Given the description of an element on the screen output the (x, y) to click on. 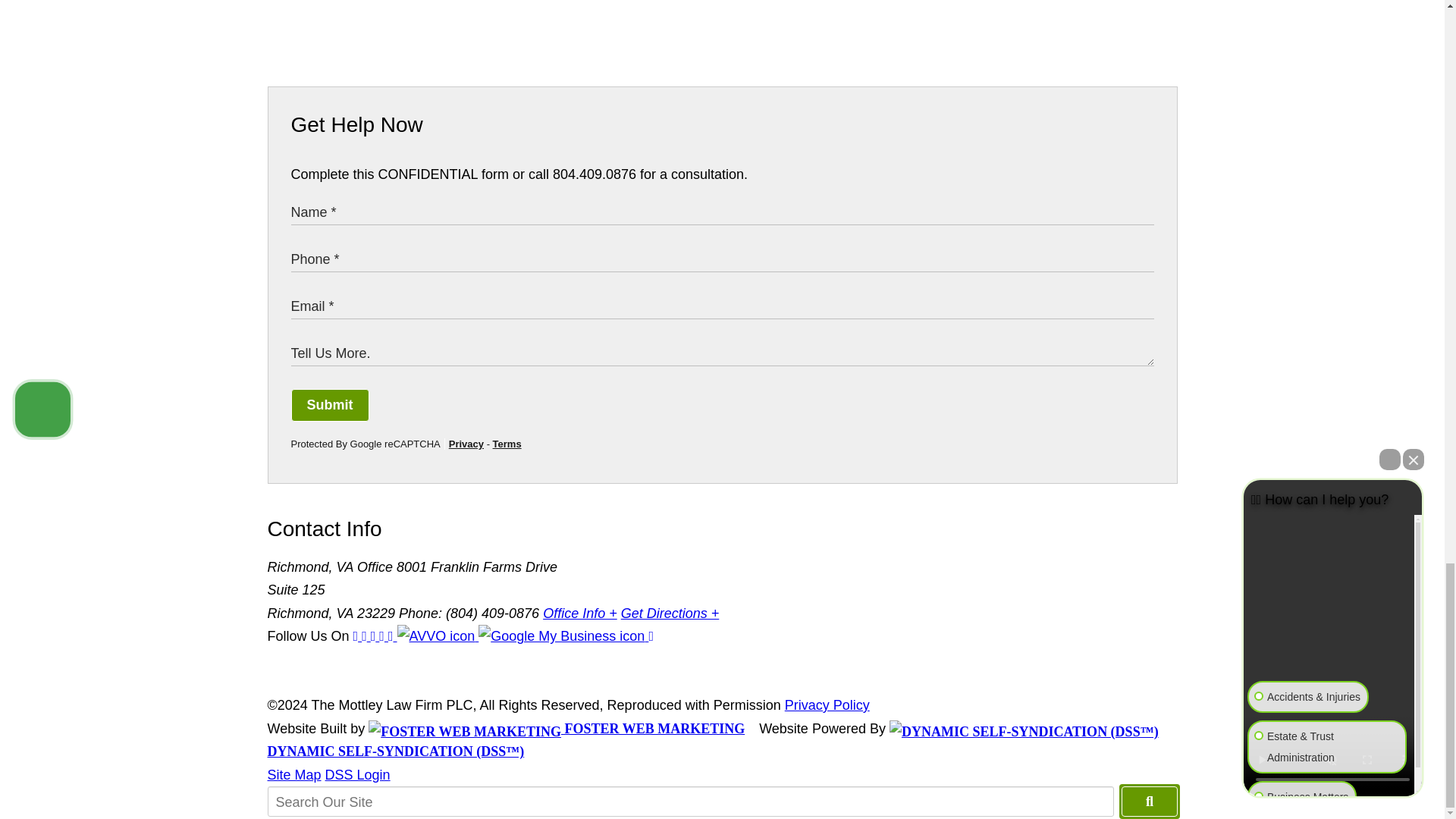
Search (1148, 801)
